Given the description of an element on the screen output the (x, y) to click on. 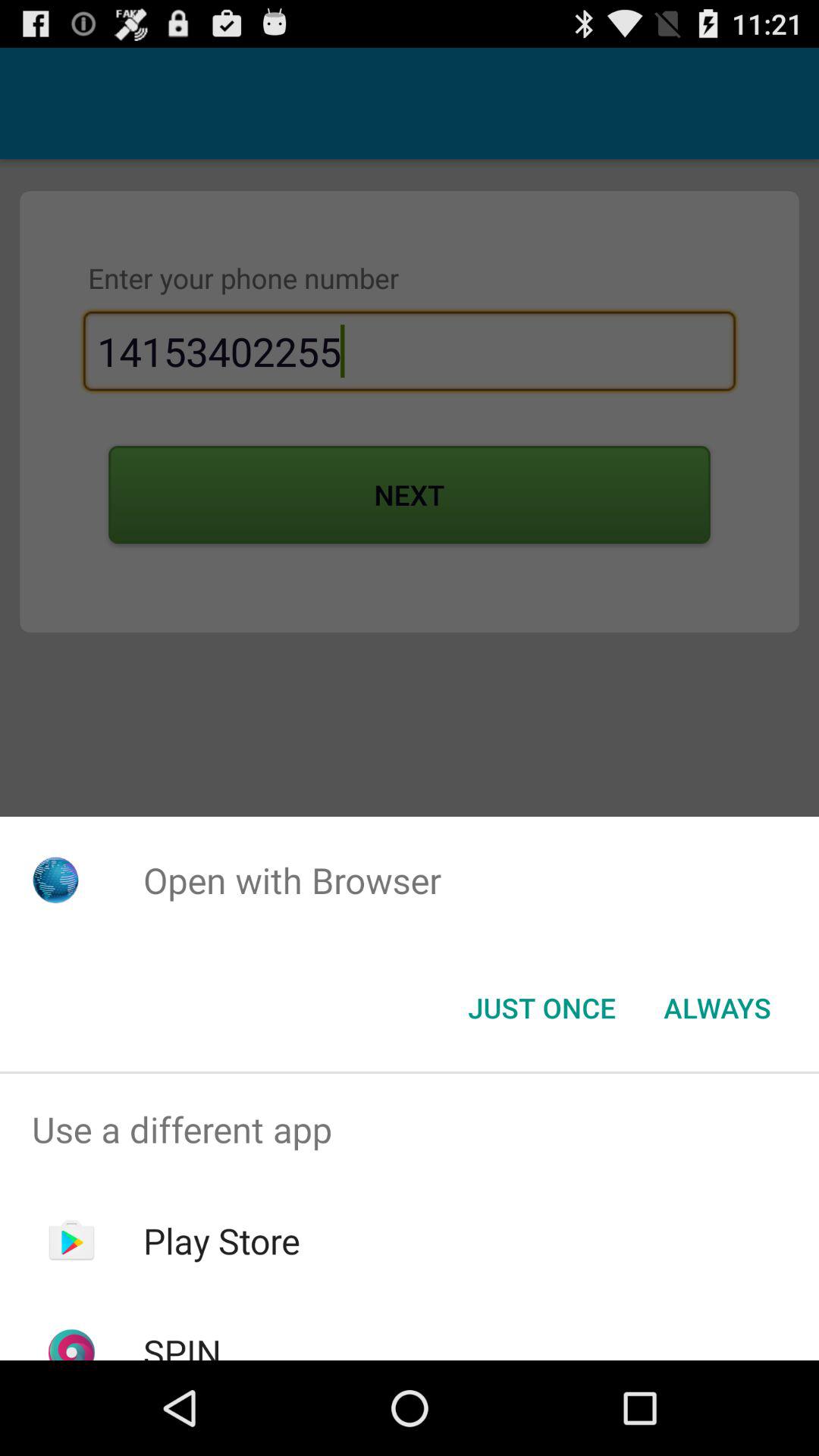
click the button at the bottom right corner (717, 1007)
